Given the description of an element on the screen output the (x, y) to click on. 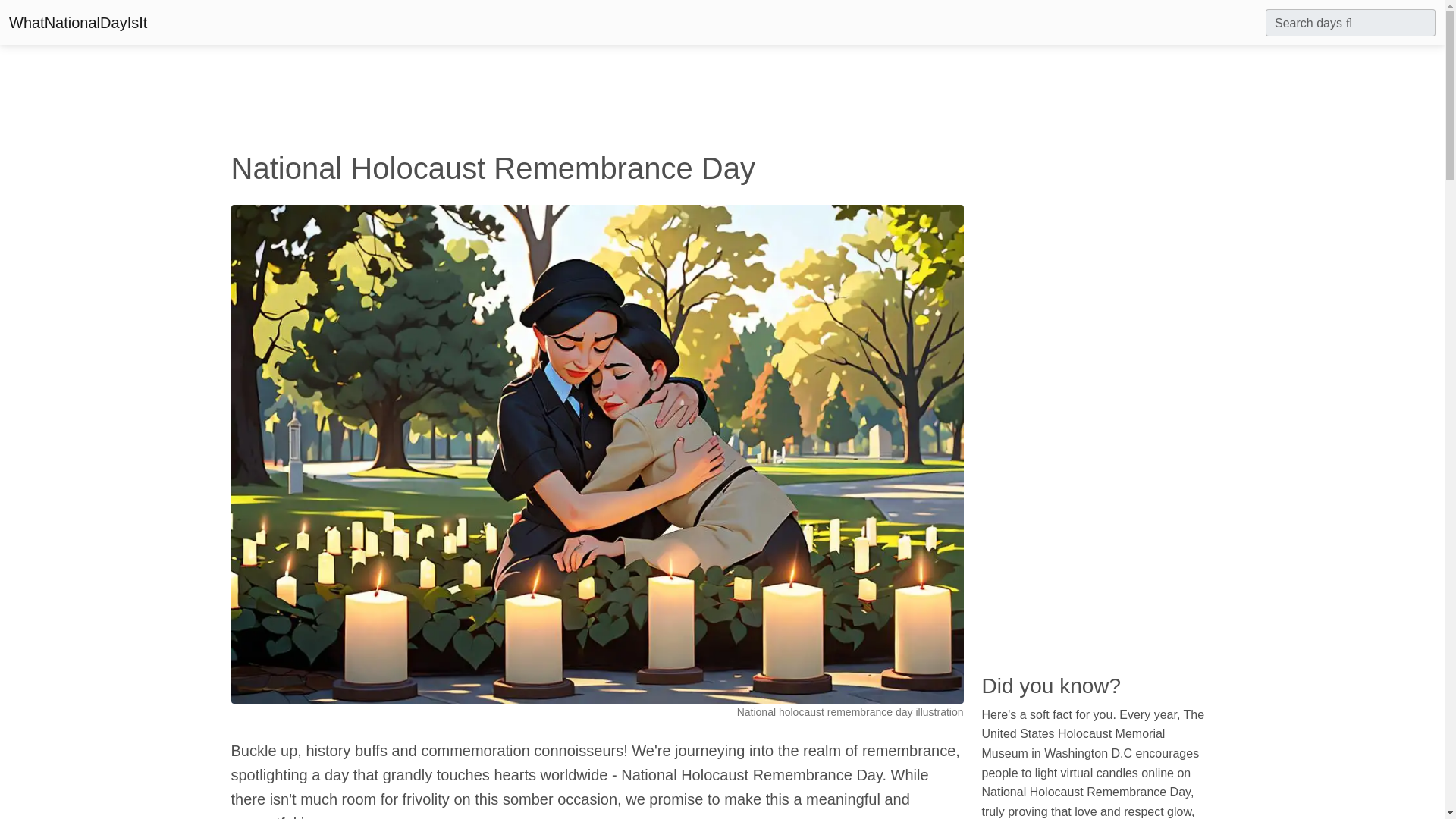
WhatNationalDayIsIt (77, 22)
